Given the description of an element on the screen output the (x, y) to click on. 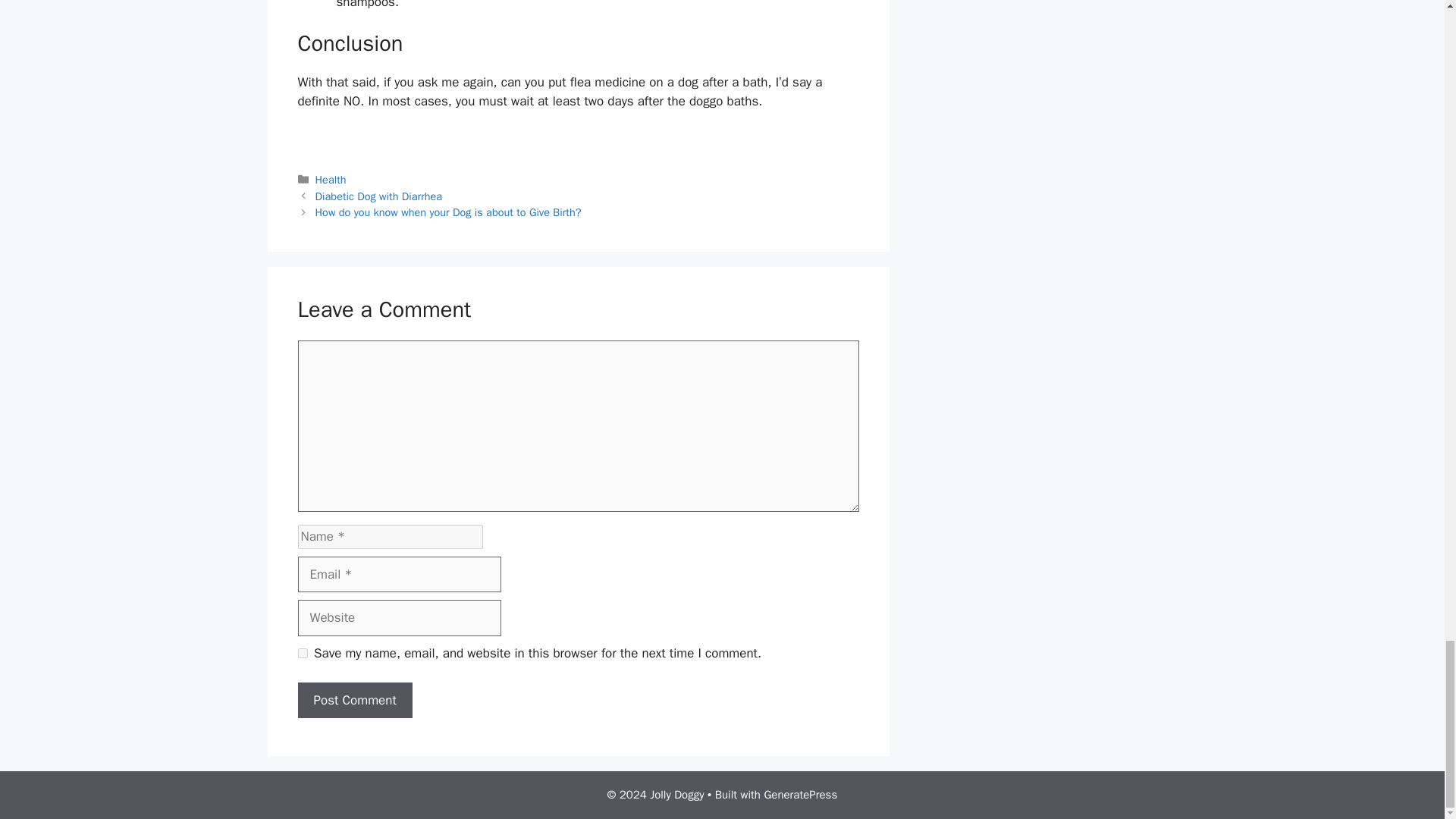
Next (447, 212)
How do you know when your Dog is about to Give Birth? (447, 212)
Post Comment (354, 700)
Post Comment (354, 700)
GeneratePress (799, 794)
yes (302, 653)
Health (330, 179)
Previous (378, 196)
Diabetic Dog with Diarrhea (378, 196)
